Given the description of an element on the screen output the (x, y) to click on. 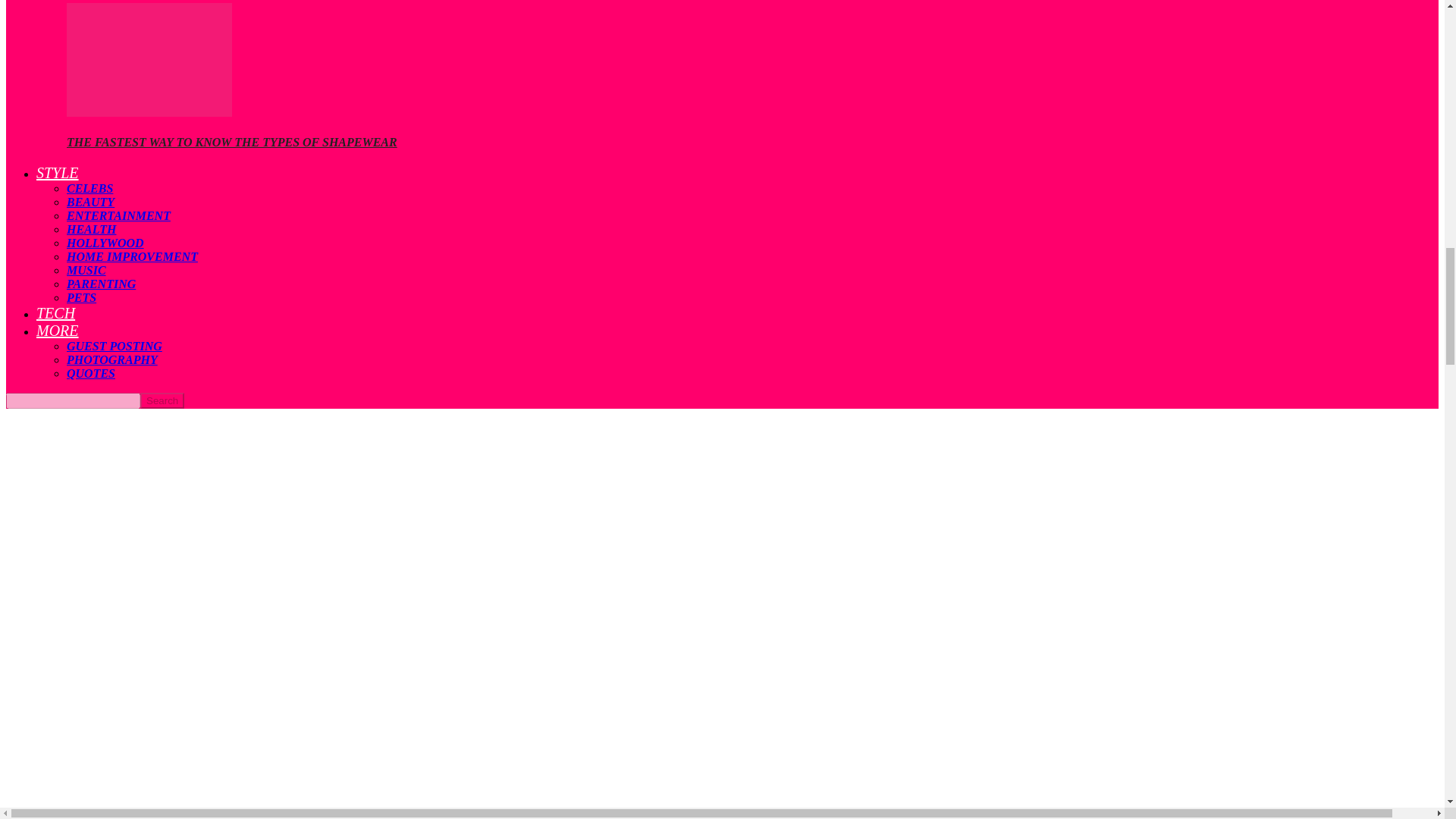
Search (161, 400)
